Given the description of an element on the screen output the (x, y) to click on. 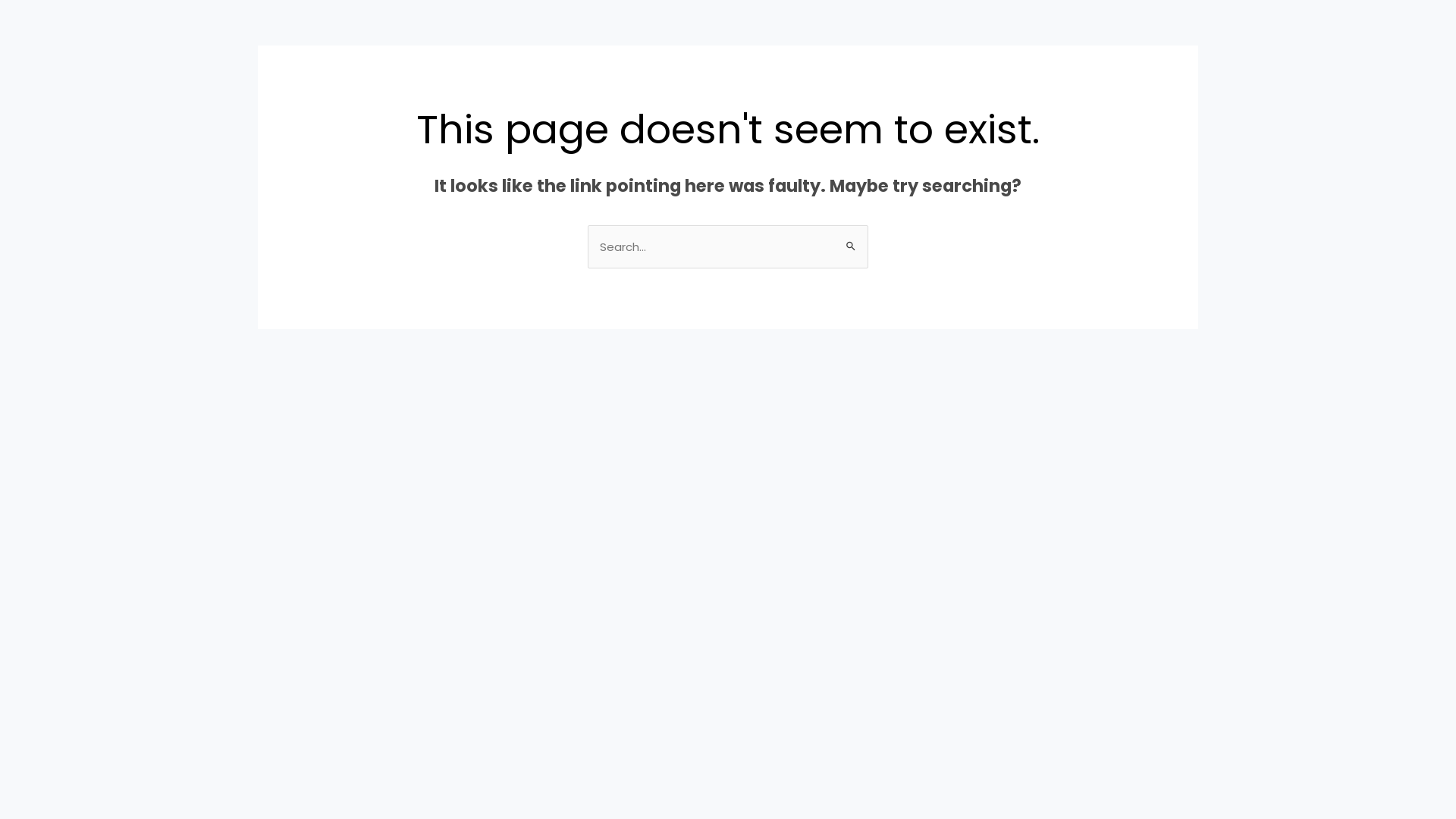
Search Element type: text (851, 239)
